Given the description of an element on the screen output the (x, y) to click on. 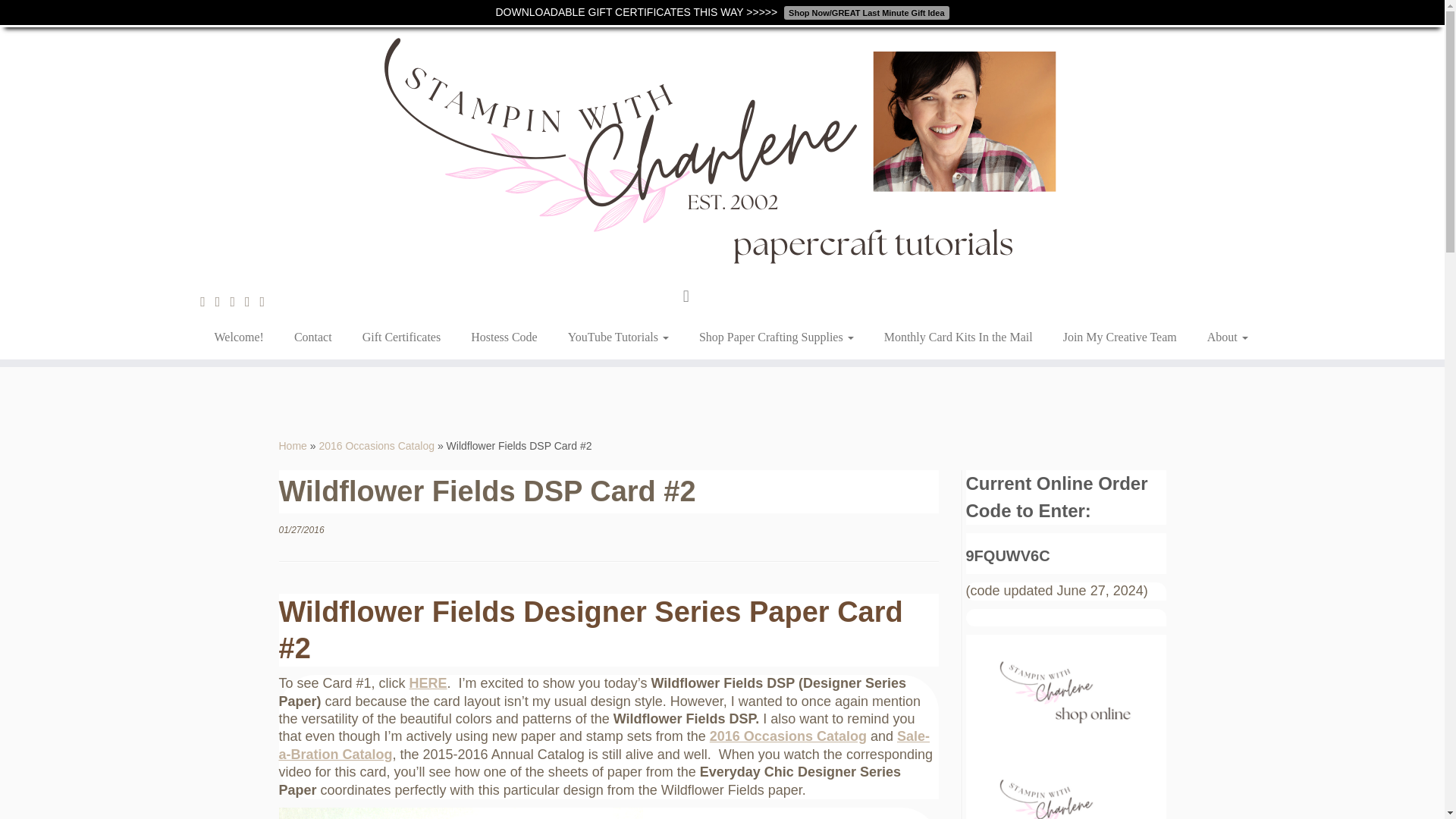
Gift Certificates (402, 337)
Subscribe to my rss feed (207, 301)
Follow us on Instagram (252, 301)
Follow us on Facebook (222, 301)
HERE (427, 683)
Home (293, 445)
Join My Creative Team (1120, 337)
Stamping with Charlene (293, 445)
Hostess Code (504, 337)
Sale-a-Bration Catalog (604, 744)
About (1219, 337)
Shop Paper Crafting Supplies (776, 337)
2016 Occasions Catalog (375, 445)
YouTube Tutorials (618, 337)
